Given the description of an element on the screen output the (x, y) to click on. 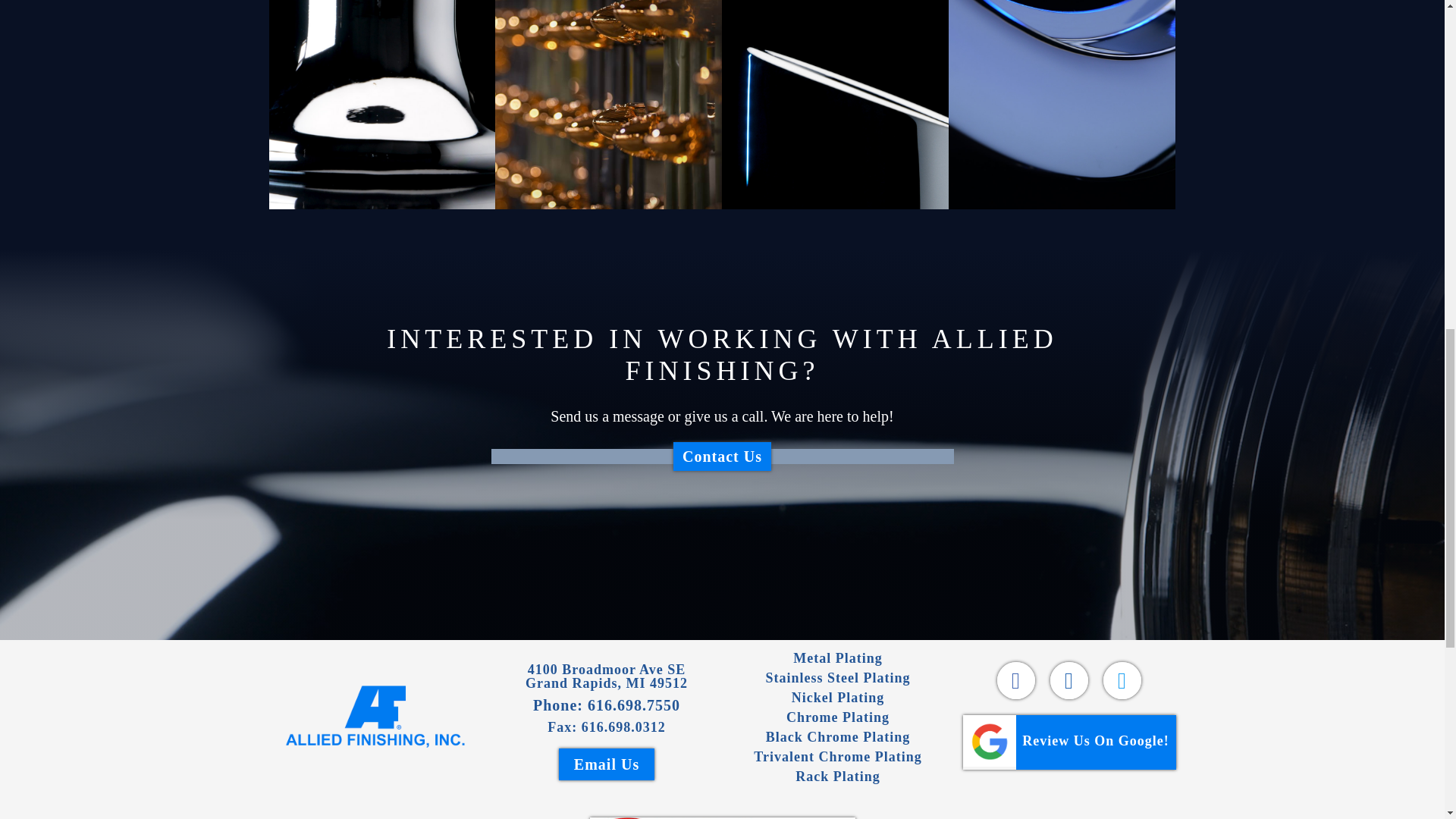
Trivalent Chrome Plating (837, 756)
Email Us (606, 764)
Chrome Plating (837, 717)
Contact Us (721, 456)
Review Us On Google! (1069, 741)
Stainless Steel Plating (837, 677)
Metal Plating (837, 657)
Black Chrome Plating (606, 676)
Nickel Plating (838, 736)
Metal Plating Company (838, 697)
Rack Plating (375, 716)
616.698.7550 (837, 776)
Quality Metal Finishing Services (633, 704)
